Given the description of an element on the screen output the (x, y) to click on. 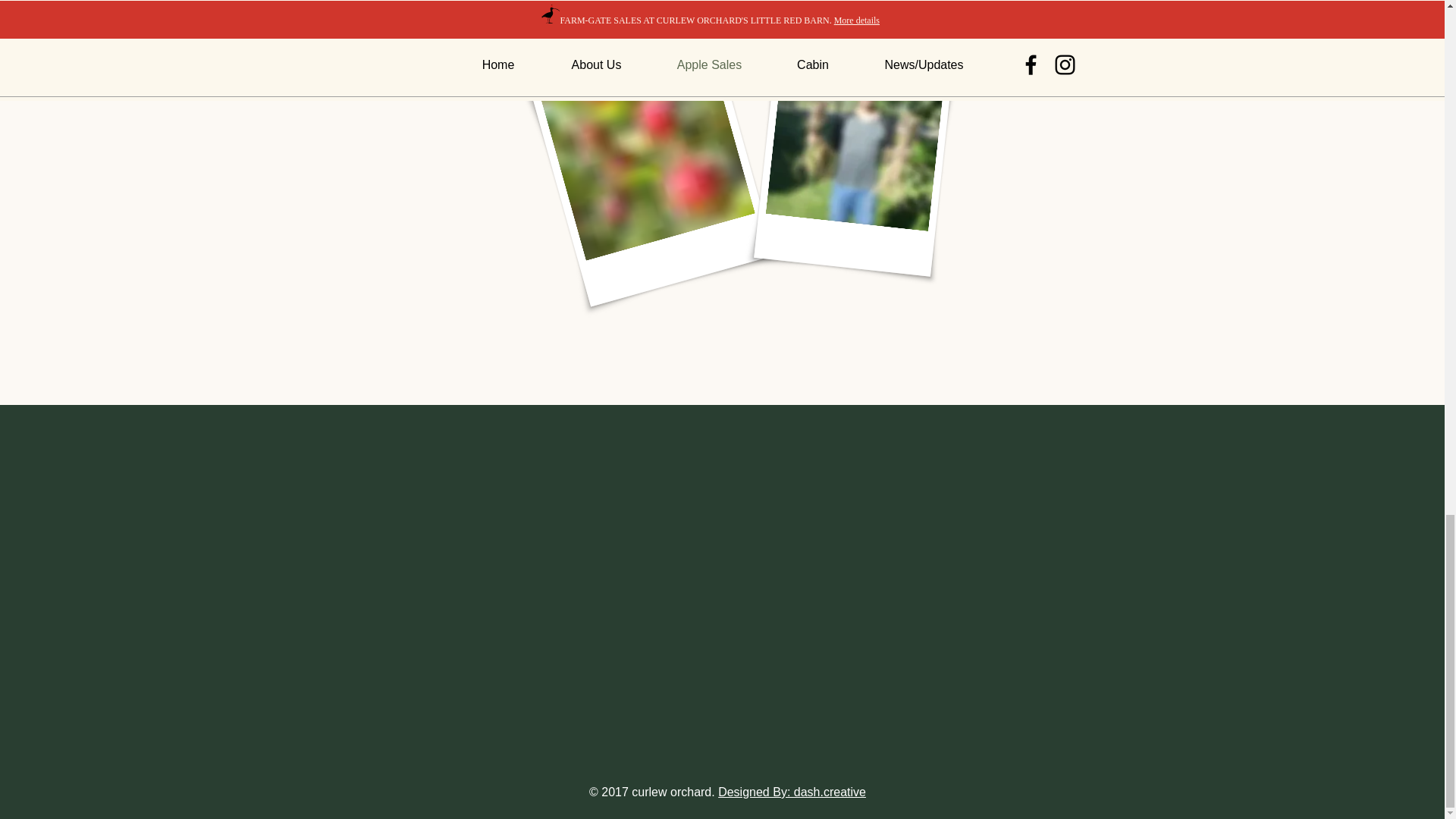
Designed By: dash.creative (791, 791)
Join CSA (430, 51)
